Given the description of an element on the screen output the (x, y) to click on. 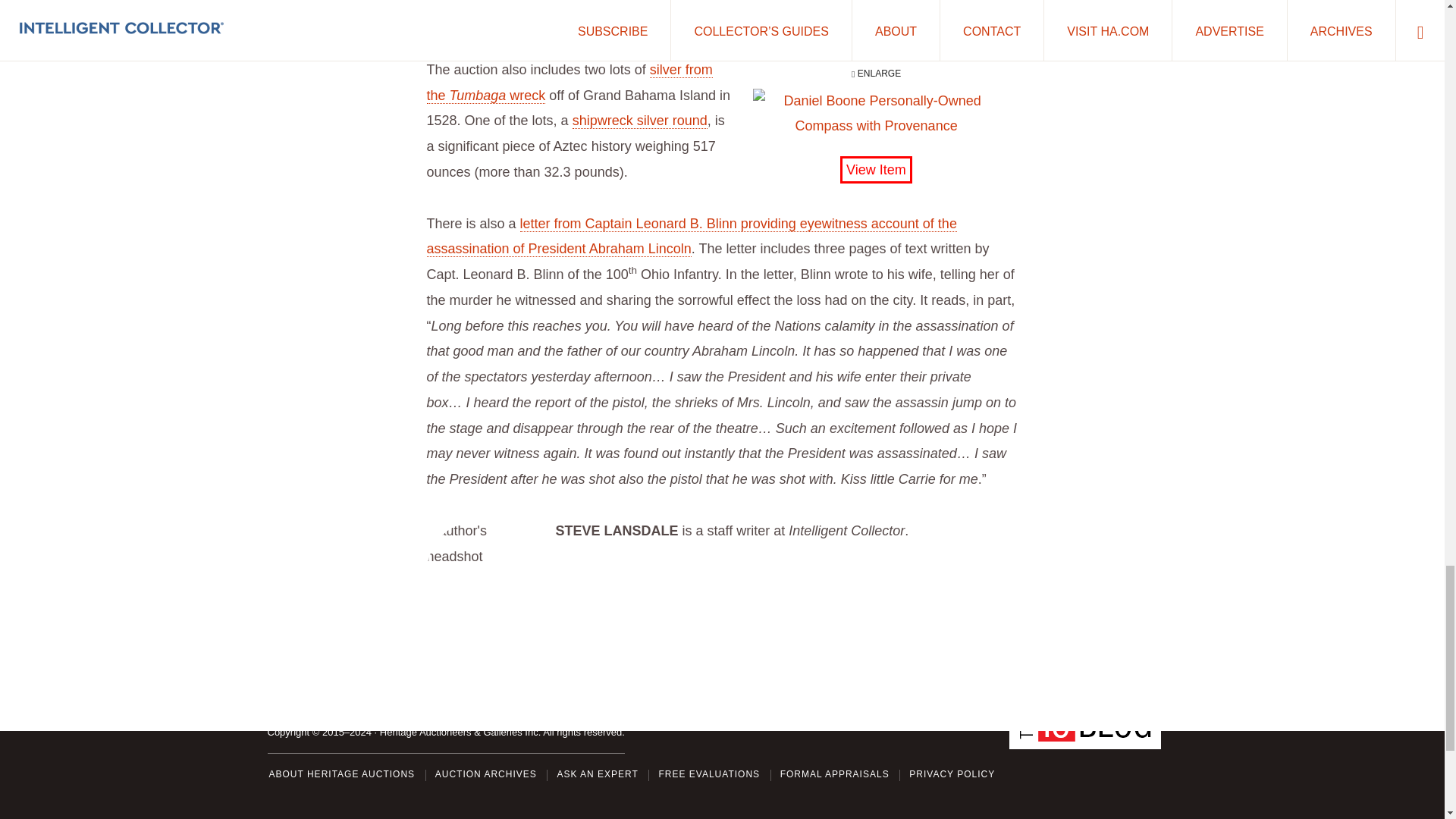
View Item (876, 169)
shipwreck silver round (639, 120)
silver from the Tumbaga wreck (568, 83)
ENLARGE (875, 102)
